Given the description of an element on the screen output the (x, y) to click on. 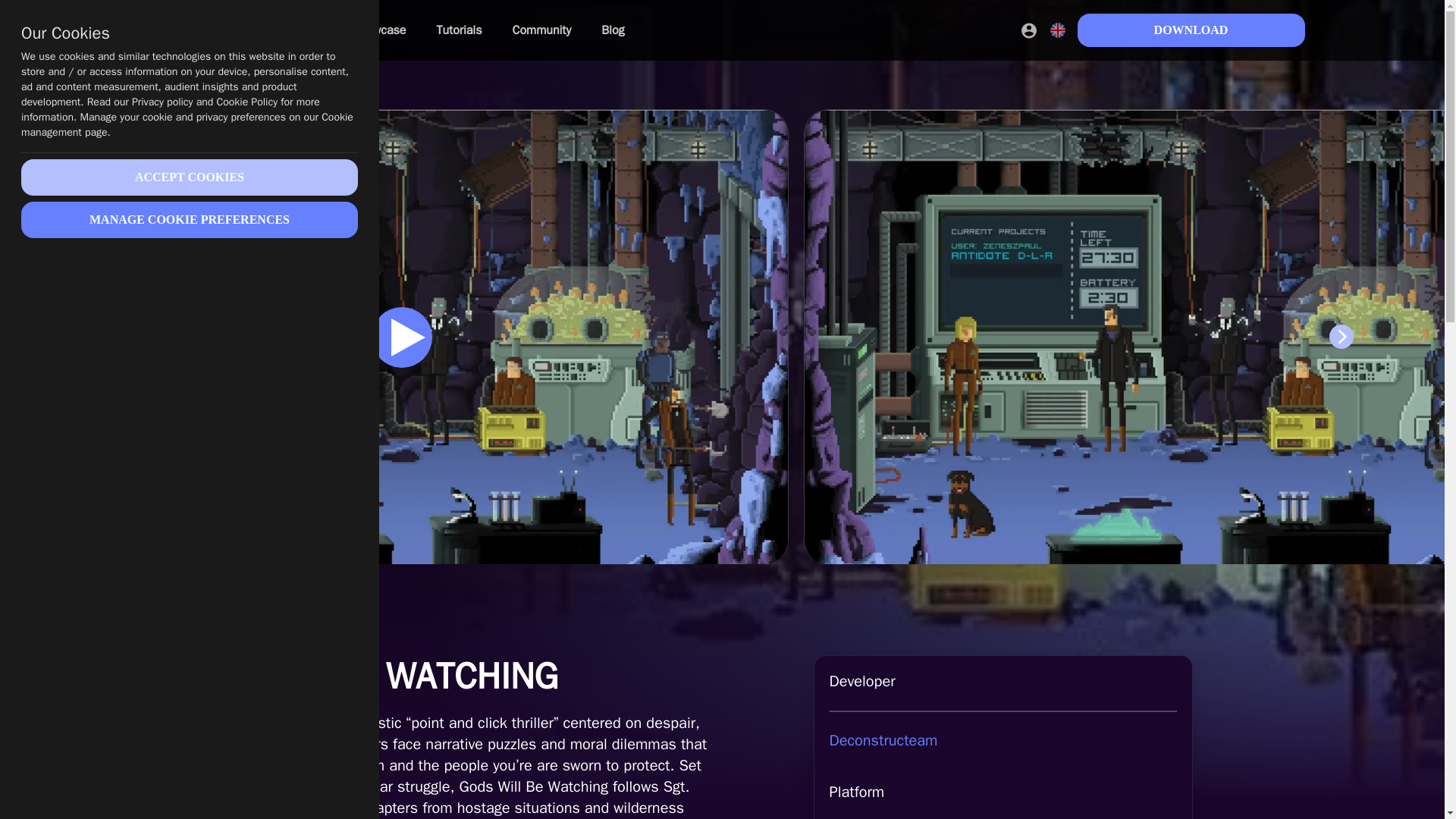
Community (541, 30)
Showcase (378, 30)
DOWNLOAD (1190, 29)
Deconstructeam (1002, 740)
ACCEPT COOKIES (189, 176)
Privacy policy (162, 101)
Tutorials (458, 30)
Cookie Policy (247, 101)
